Given the description of an element on the screen output the (x, y) to click on. 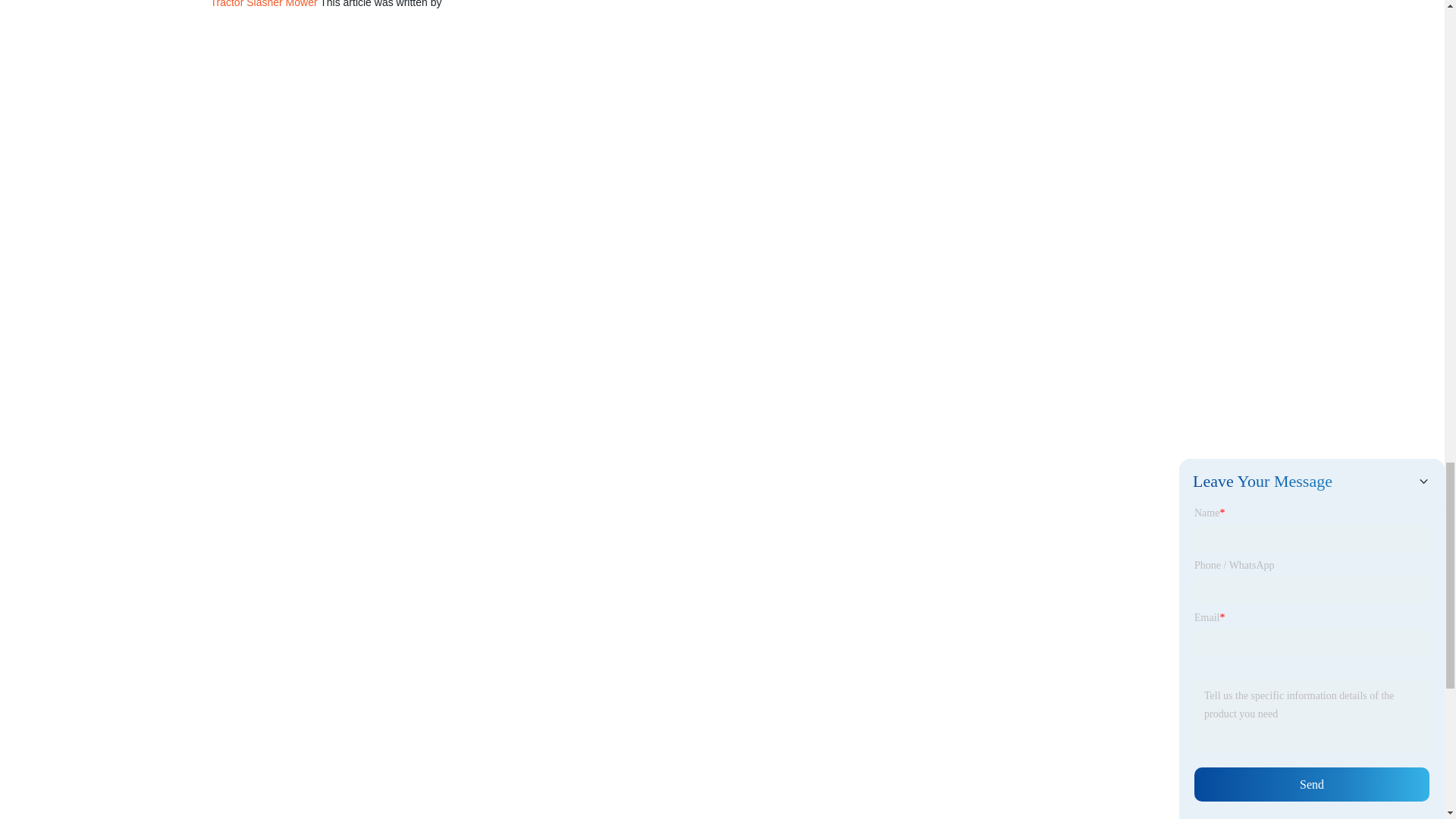
Tractor Slasher Mower (264, 4)
